Given the description of an element on the screen output the (x, y) to click on. 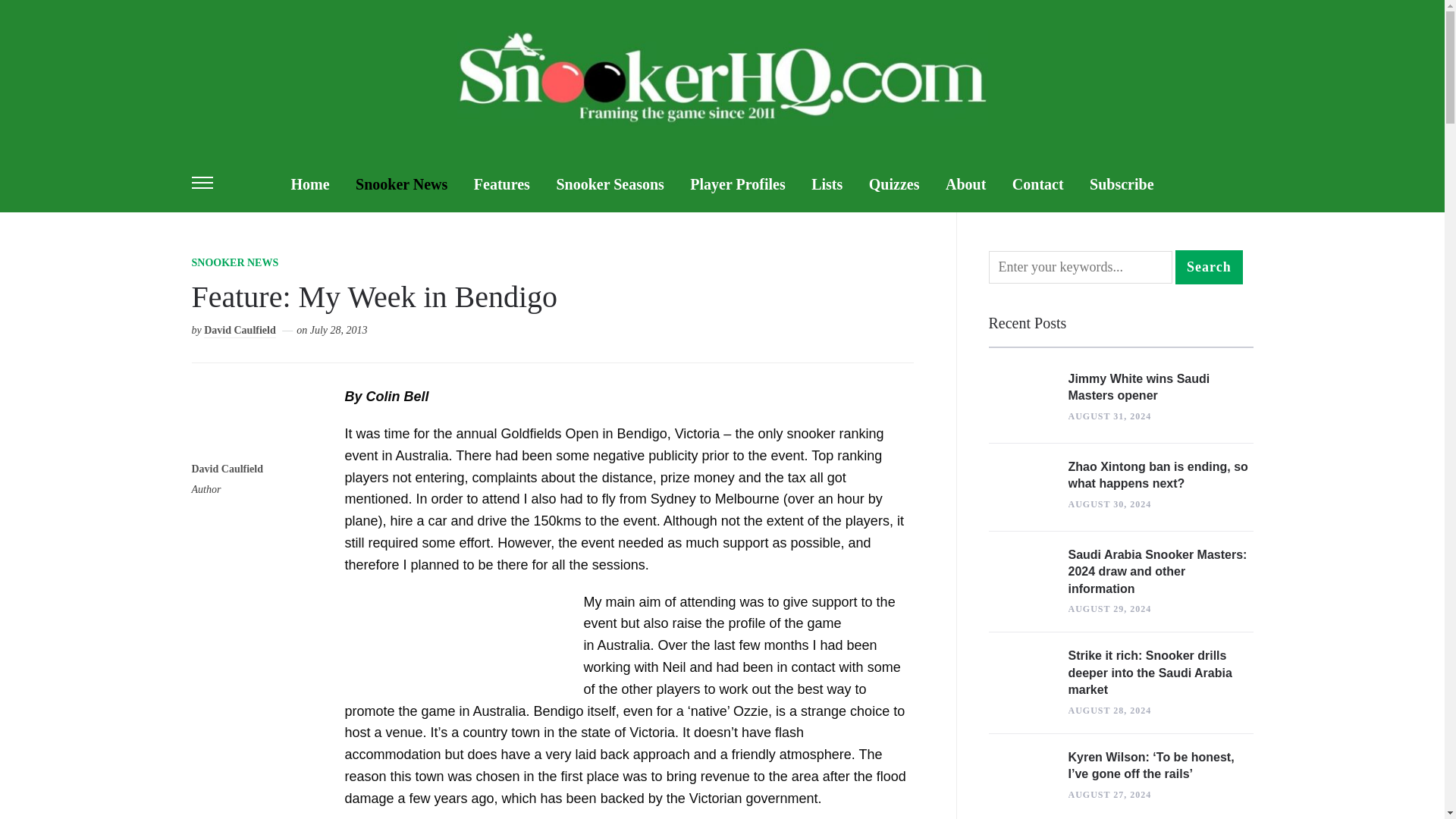
Posts by David Caulfield (239, 331)
Search (1208, 267)
Posts by David Caulfield (226, 469)
Search (1208, 267)
